Given the description of an element on the screen output the (x, y) to click on. 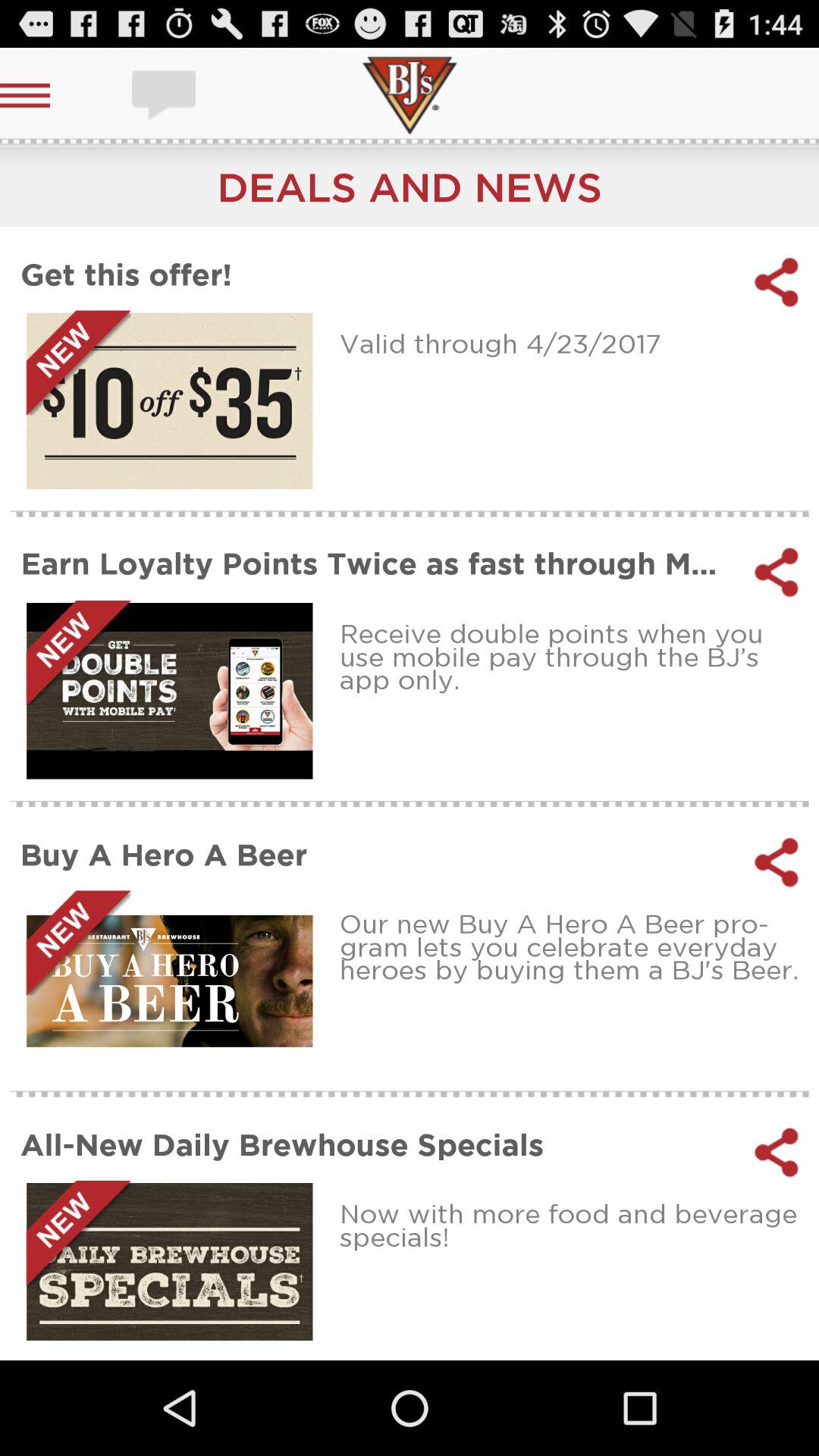
launch deals and news icon (409, 186)
